Given the description of an element on the screen output the (x, y) to click on. 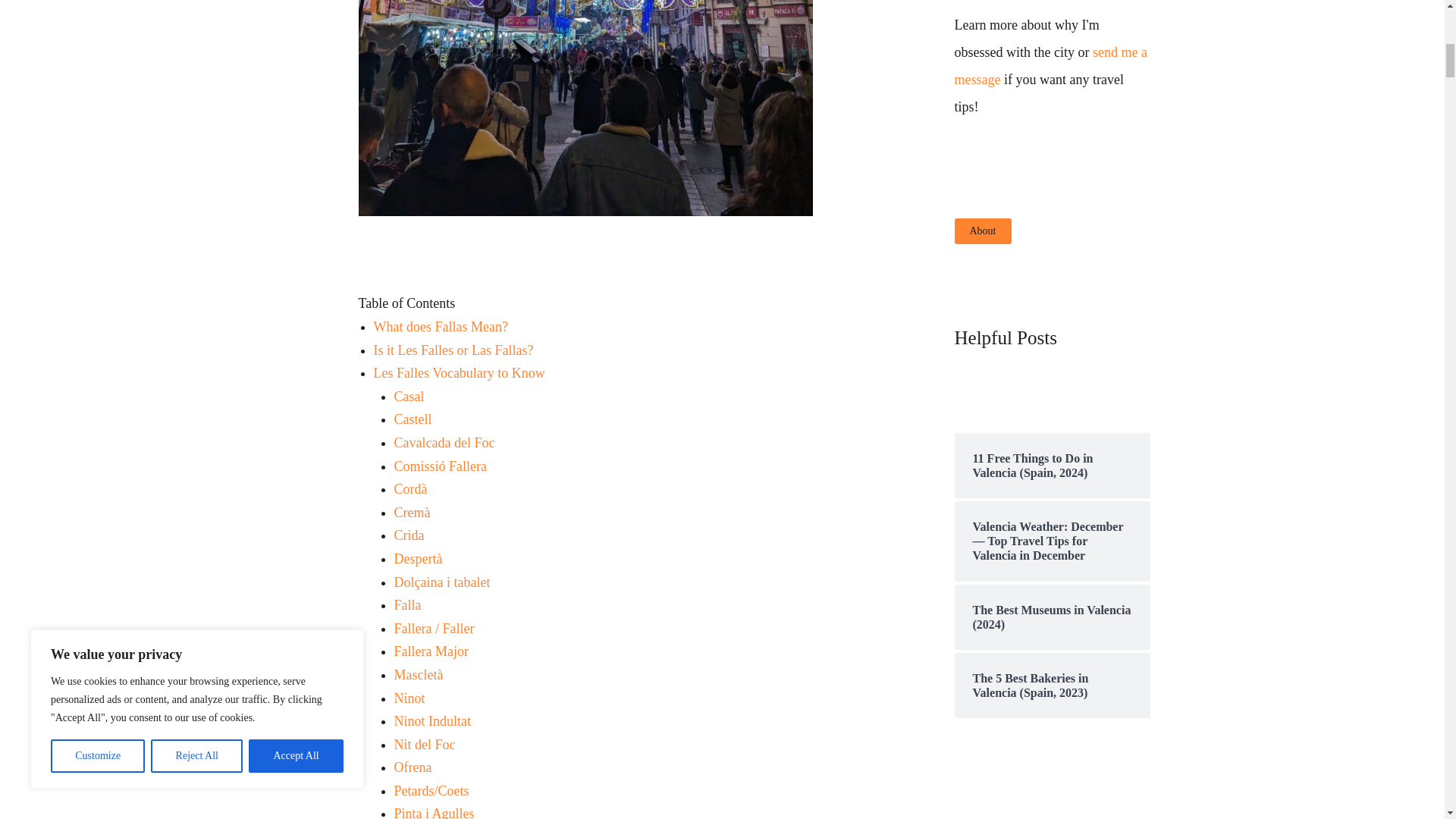
Casal (409, 396)
Castell (413, 418)
Cavalcada del Foc (444, 442)
Is it Les Falles or Las Fallas? (454, 350)
What does Fallas Mean? (441, 326)
Les Falles Vocabulary to Know (459, 372)
